Given the description of an element on the screen output the (x, y) to click on. 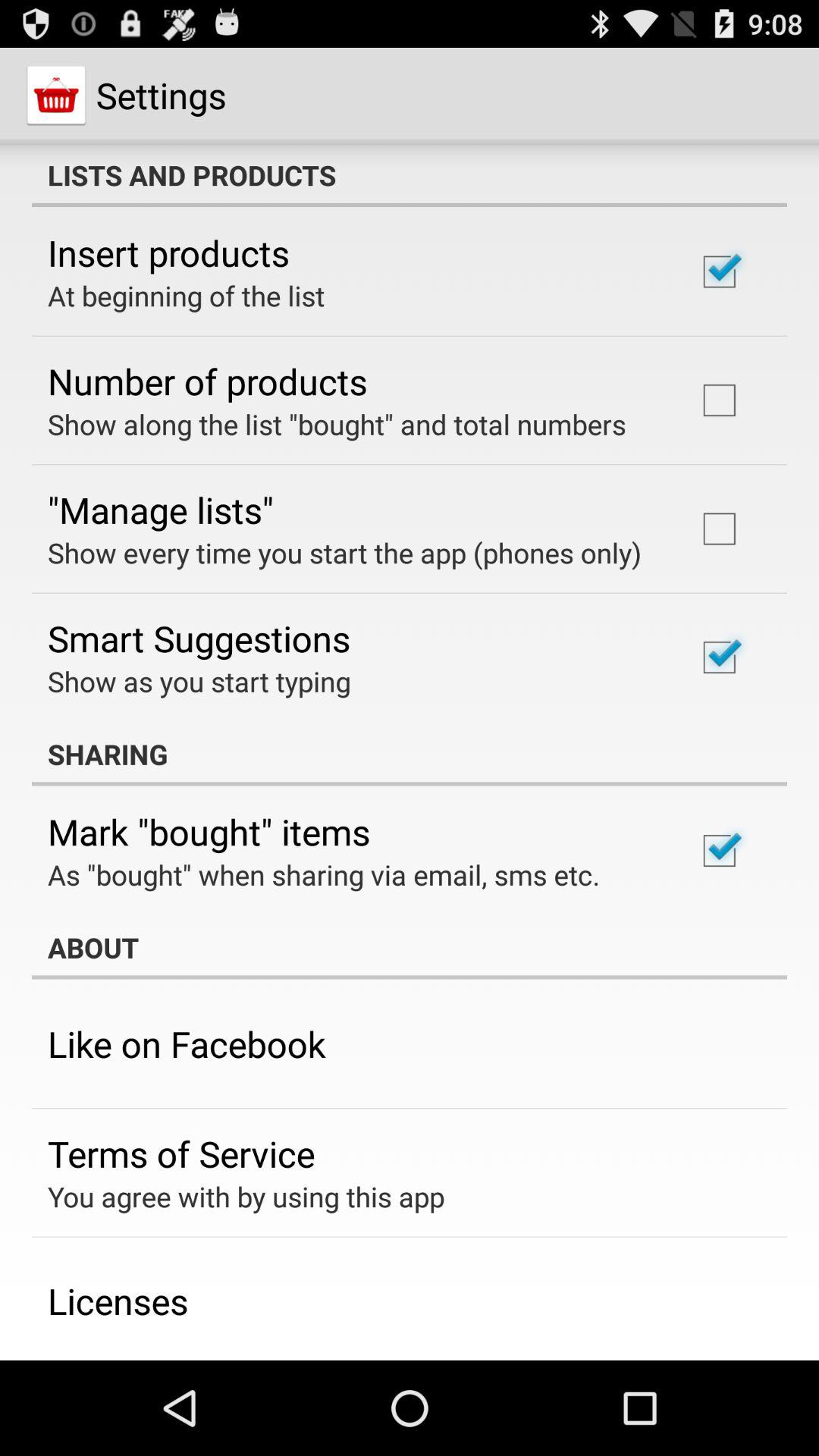
tap app below the lists and products icon (168, 252)
